Given the description of an element on the screen output the (x, y) to click on. 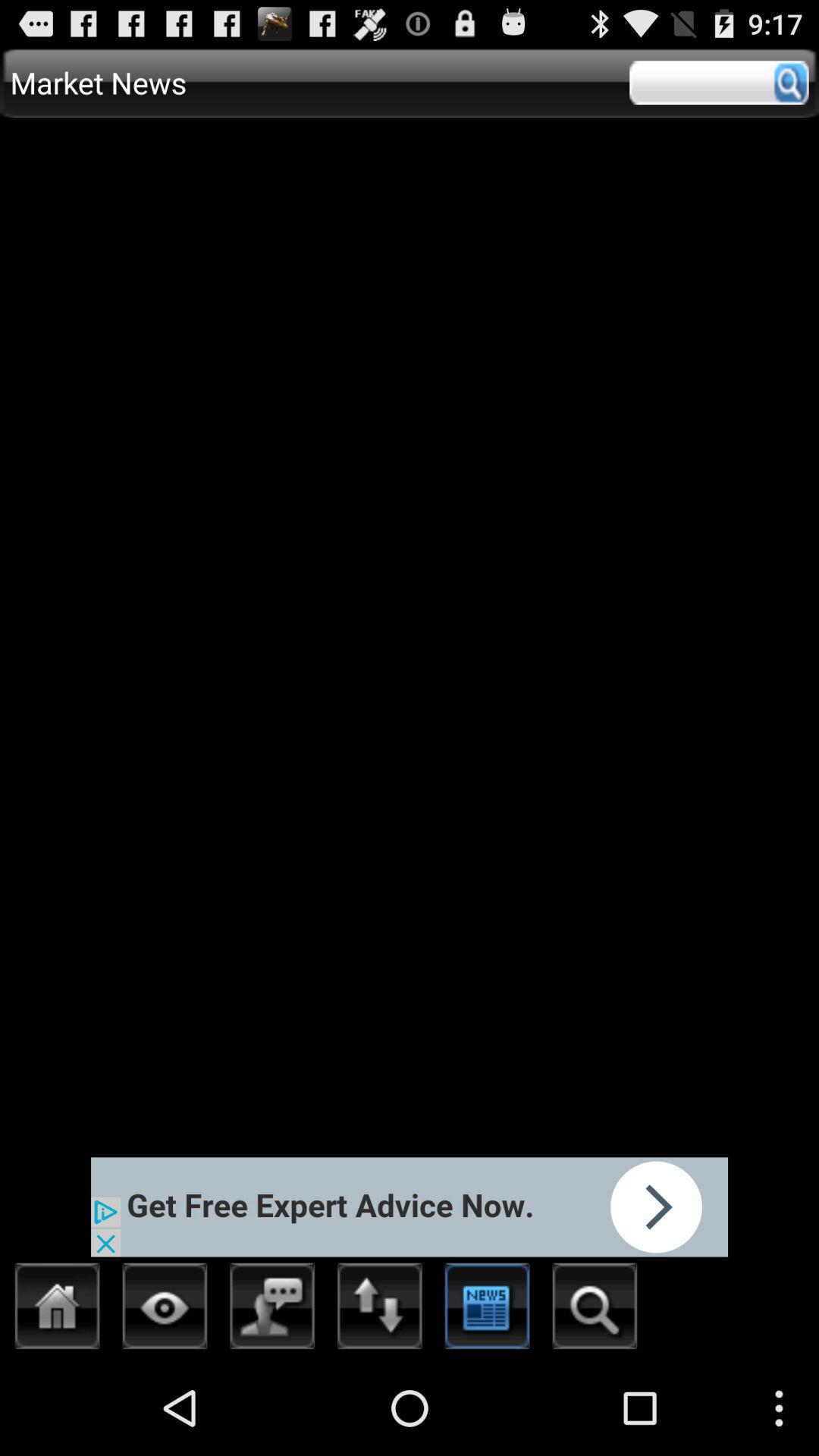
go to home (57, 1310)
